Given the description of an element on the screen output the (x, y) to click on. 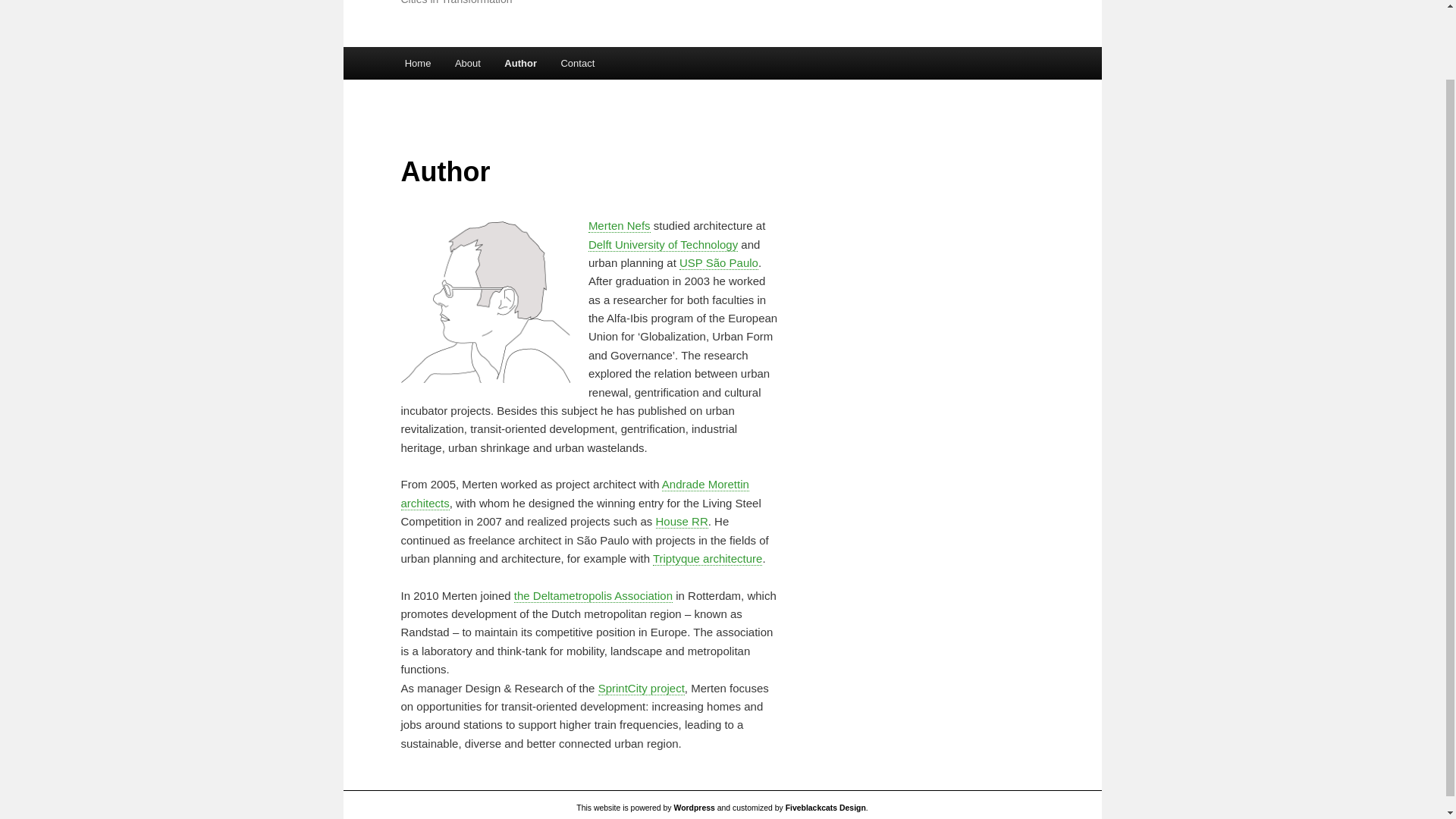
House RR (681, 521)
Author (520, 62)
Delft University of Technology (663, 244)
Merten Nefs (619, 225)
Andrade Morettin architects (574, 493)
Triptyque architecture (707, 558)
About (467, 62)
the Deltametropolis Association (592, 595)
Merten Nefs (619, 225)
Delft University of Technology (663, 244)
